Given the description of an element on the screen output the (x, y) to click on. 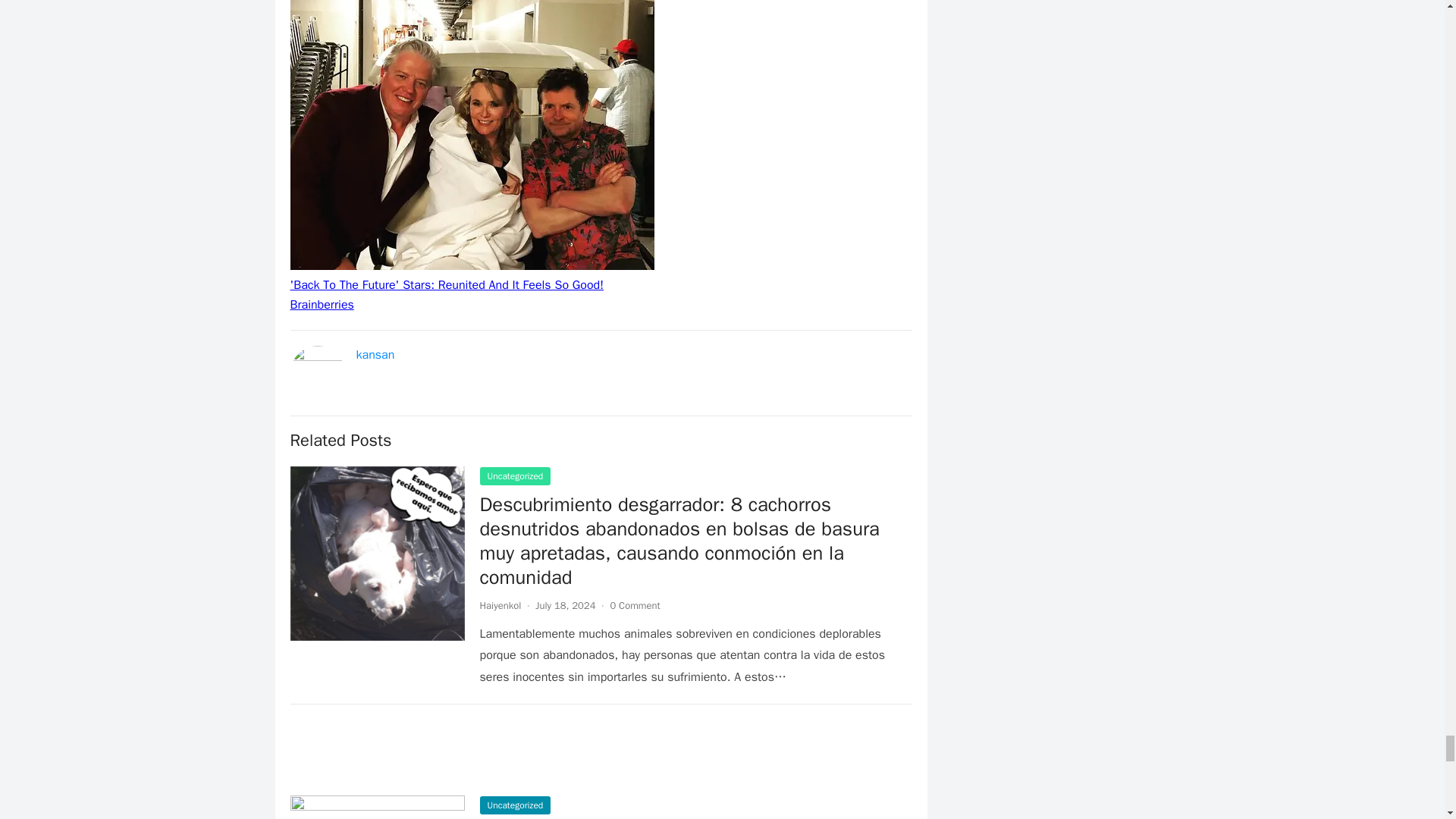
kansan (375, 354)
Uncategorized (514, 475)
